Given the description of an element on the screen output the (x, y) to click on. 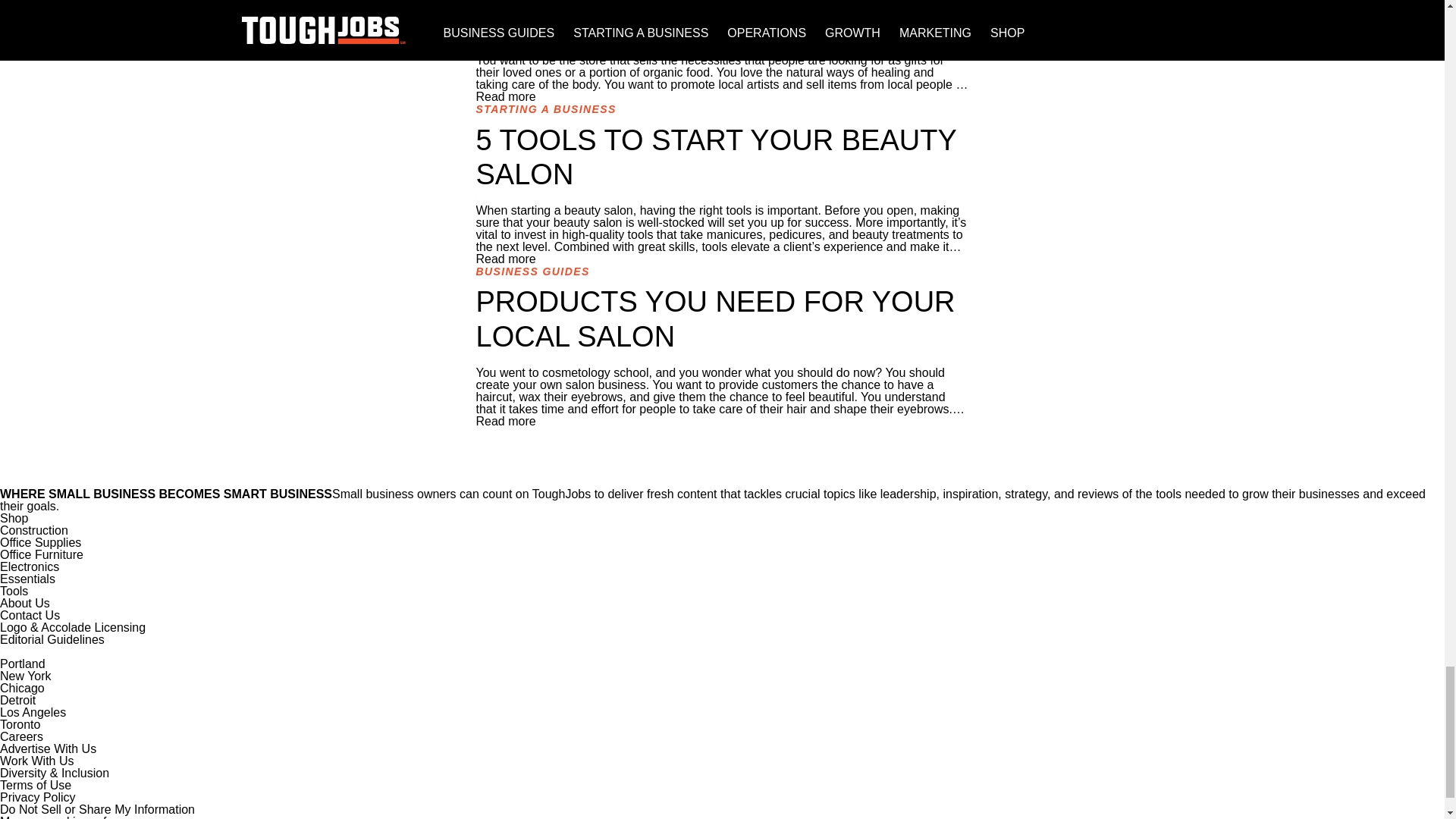
STARTING A BUSINESS (545, 109)
Read more (505, 258)
Read more (505, 96)
